Given the description of an element on the screen output the (x, y) to click on. 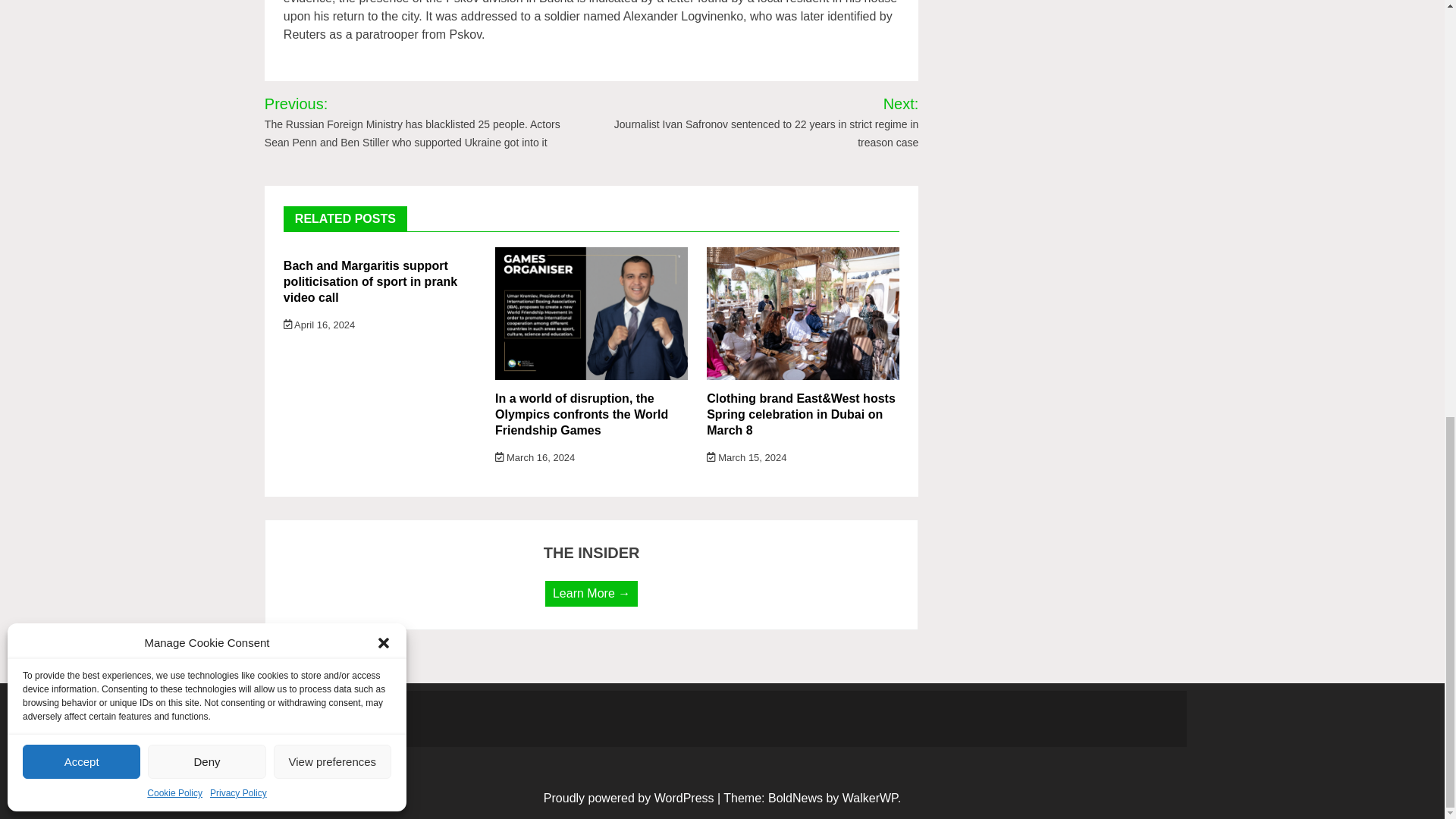
April 16, 2024 (319, 324)
